Given the description of an element on the screen output the (x, y) to click on. 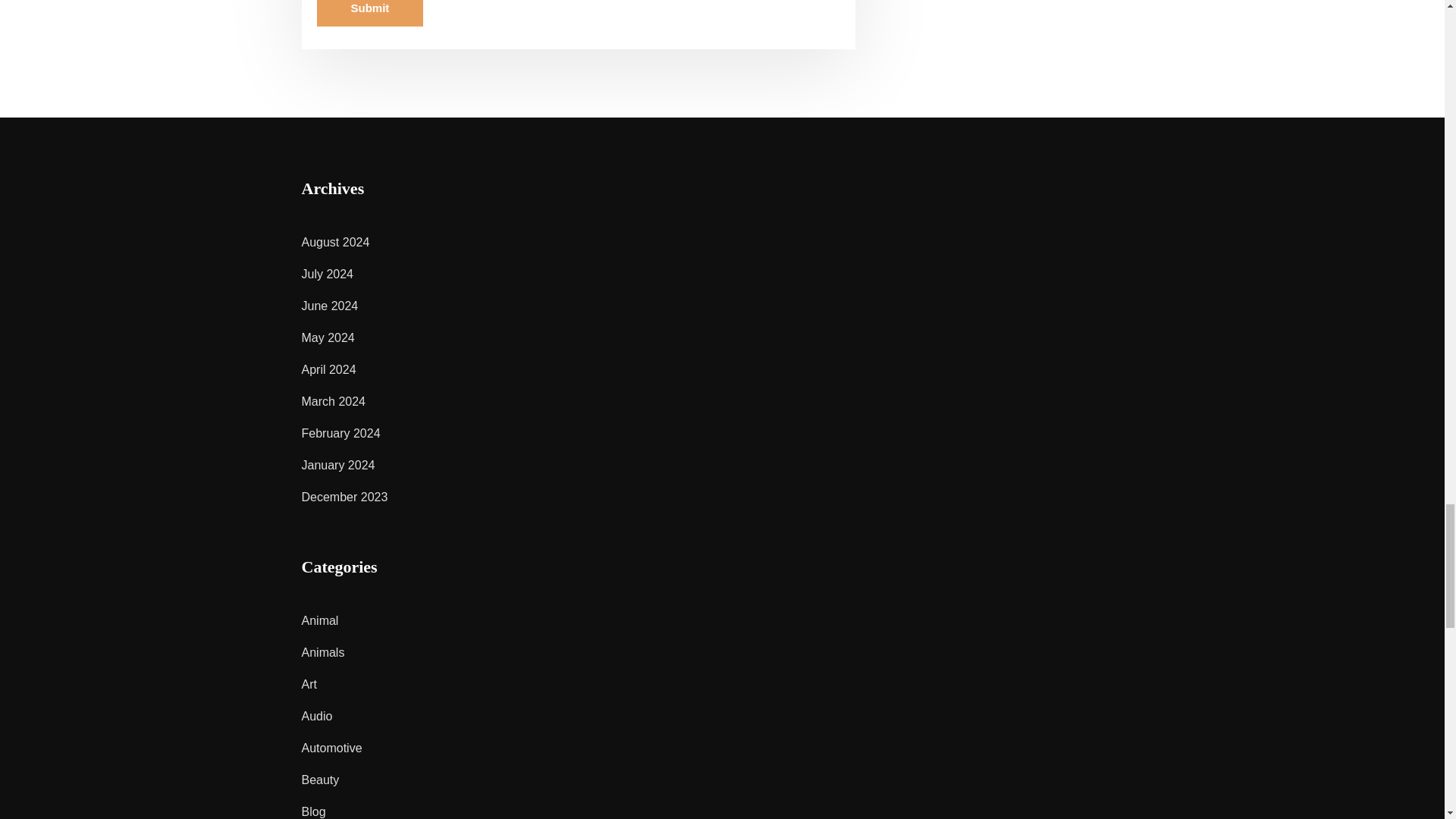
August 2024 (335, 241)
April 2024 (328, 369)
March 2024 (333, 400)
Submit (370, 13)
July 2024 (327, 273)
May 2024 (328, 337)
June 2024 (329, 305)
Submit (370, 13)
